Given the description of an element on the screen output the (x, y) to click on. 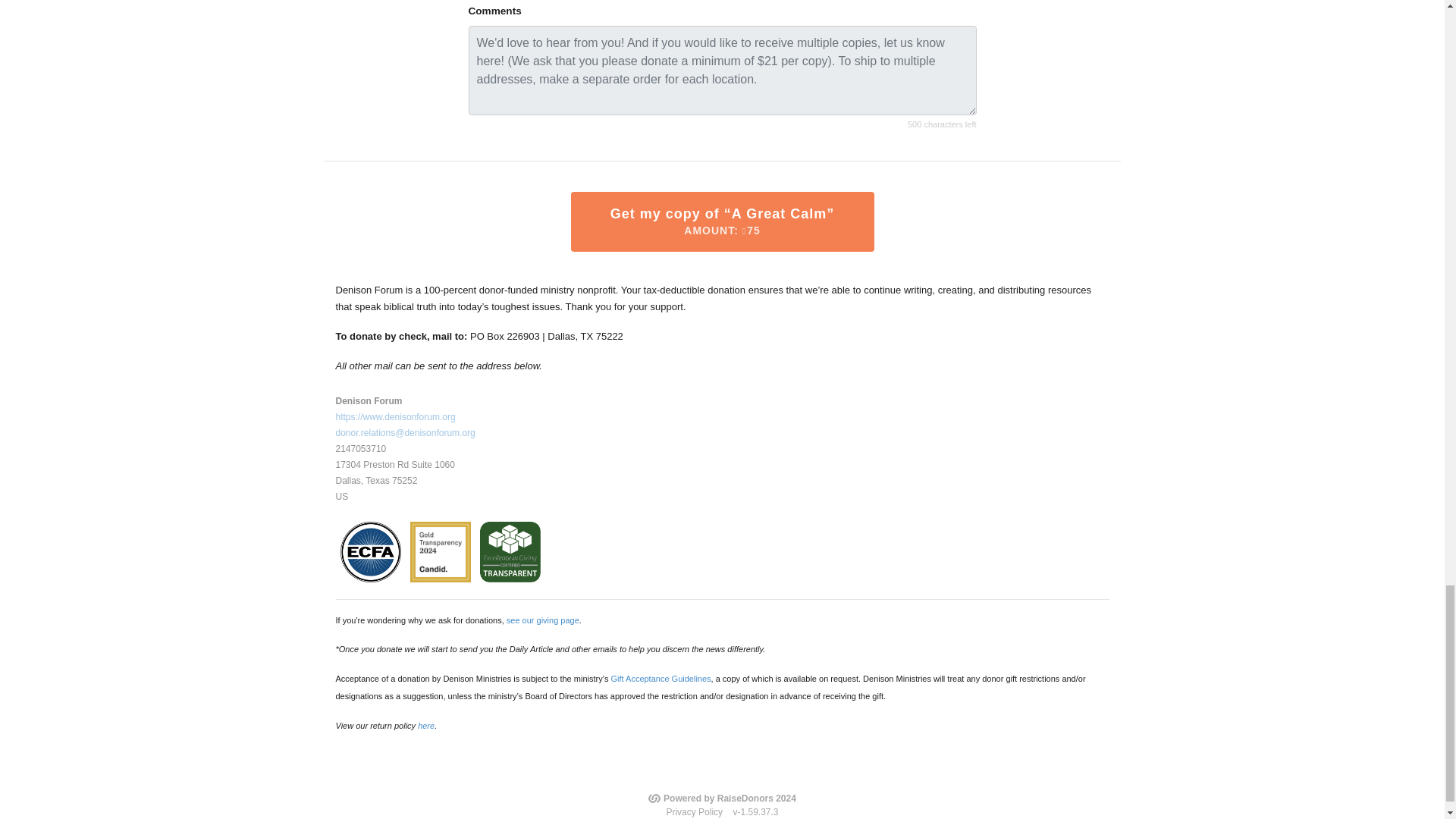
Powered by RaiseDonors (721, 798)
Powered by RaiseDonors 2024 (721, 798)
see our giving page (542, 619)
Privacy Policy (693, 811)
Gift Acceptance Guidelines (660, 677)
here (425, 725)
